Given the description of an element on the screen output the (x, y) to click on. 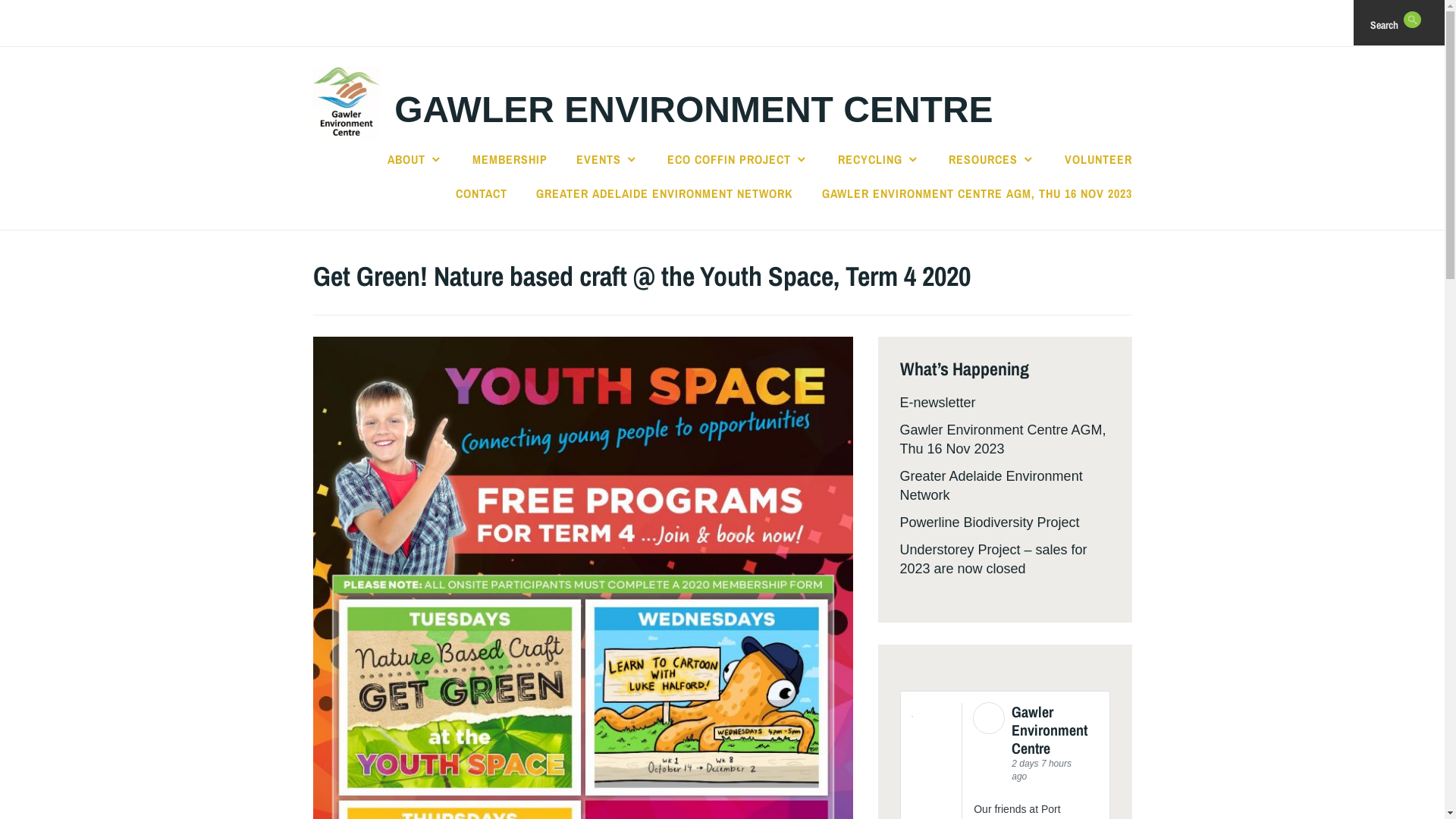
RESOURCES Element type: text (991, 158)
GREATER ADELAIDE ENVIRONMENT NETWORK Element type: text (664, 193)
Powerline Biodiversity Project Element type: text (989, 522)
Greater Adelaide Environment Network Element type: text (990, 485)
Search for: Element type: hover (1438, 23)
GAWLER ENVIRONMENT CENTRE Element type: text (693, 109)
MEMBERSHIP Element type: text (509, 158)
VOLUNTEER Element type: text (1098, 158)
Gawler Environment Centre AGM, Thu 16 Nov 2023 Element type: text (1002, 439)
Search Element type: text (47, 21)
GAWLER ENVIRONMENT CENTRE AGM, THU 16 NOV 2023 Element type: text (977, 193)
RECYCLING Element type: text (878, 158)
ABOUT Element type: text (414, 158)
EVENTS Element type: text (607, 158)
E-newsletter Element type: text (937, 402)
ECO COFFIN PROJECT Element type: text (737, 158)
CONTACT Element type: text (481, 193)
